Given the description of an element on the screen output the (x, y) to click on. 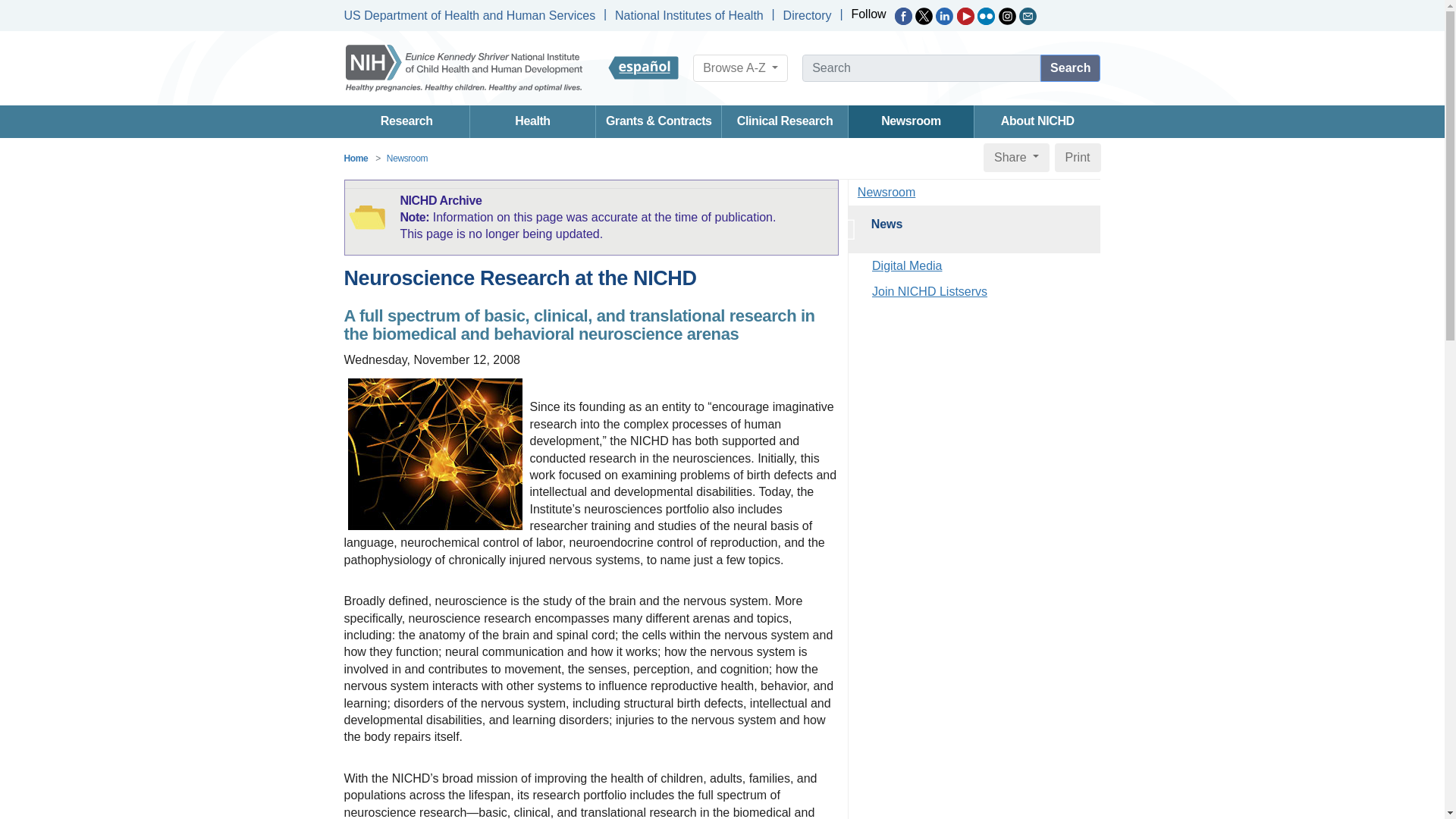
Subscribe (1027, 16)
flickr (985, 16)
US Department of Health and Human Services (469, 15)
Email NICHD (1027, 16)
National Institutes of Health (688, 15)
facebook (903, 16)
follow us on Instagram (1007, 16)
X (924, 16)
follow us on Facebook (903, 16)
follow us on X (924, 16)
linkedin (944, 16)
instagram (1007, 16)
follow us on YouTube (965, 16)
National Institutes of Health (688, 15)
follow us on LinkedIn (944, 16)
